Given the description of an element on the screen output the (x, y) to click on. 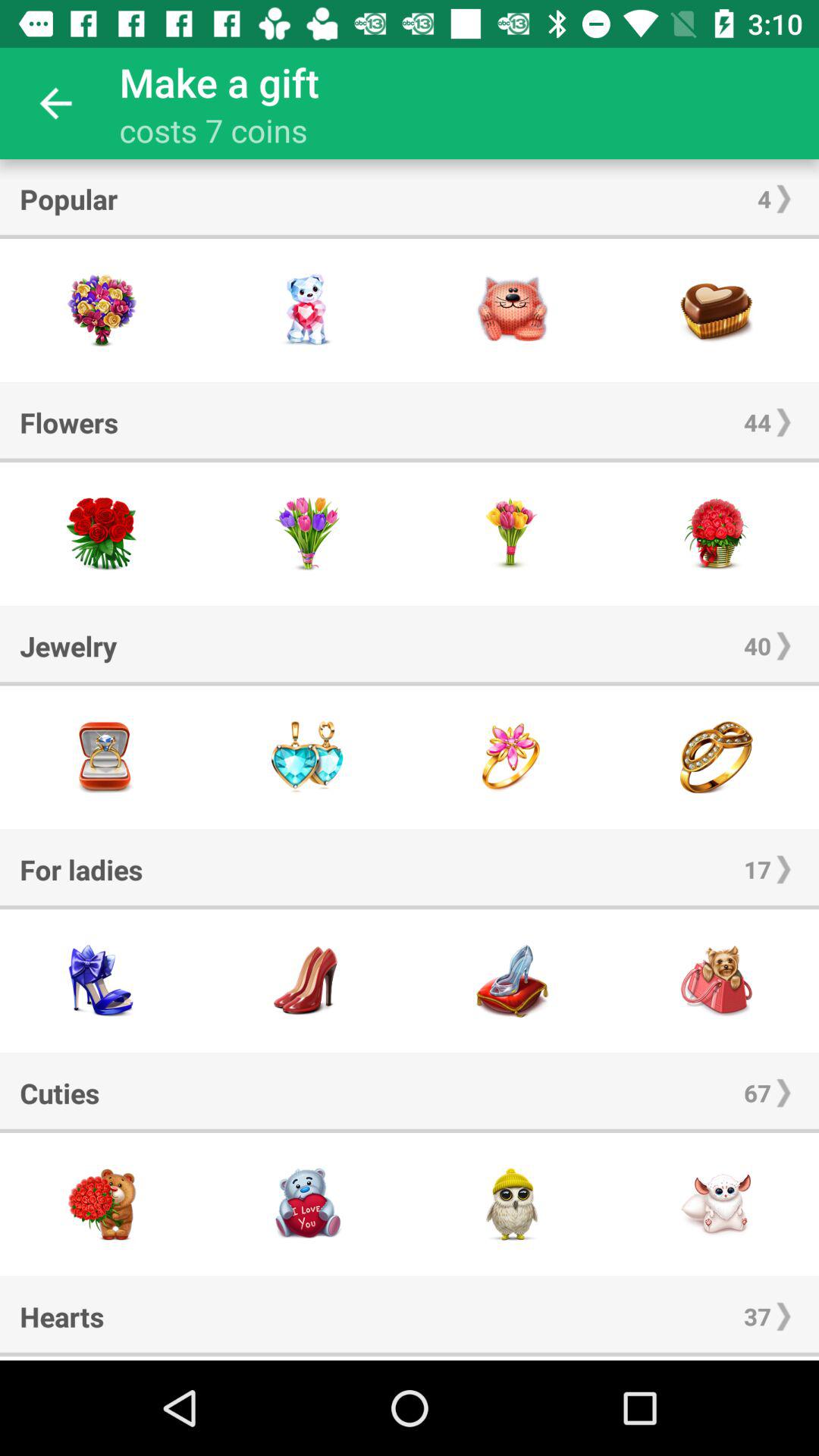
tap the app to the left of the make a gift app (55, 103)
